Given the description of an element on the screen output the (x, y) to click on. 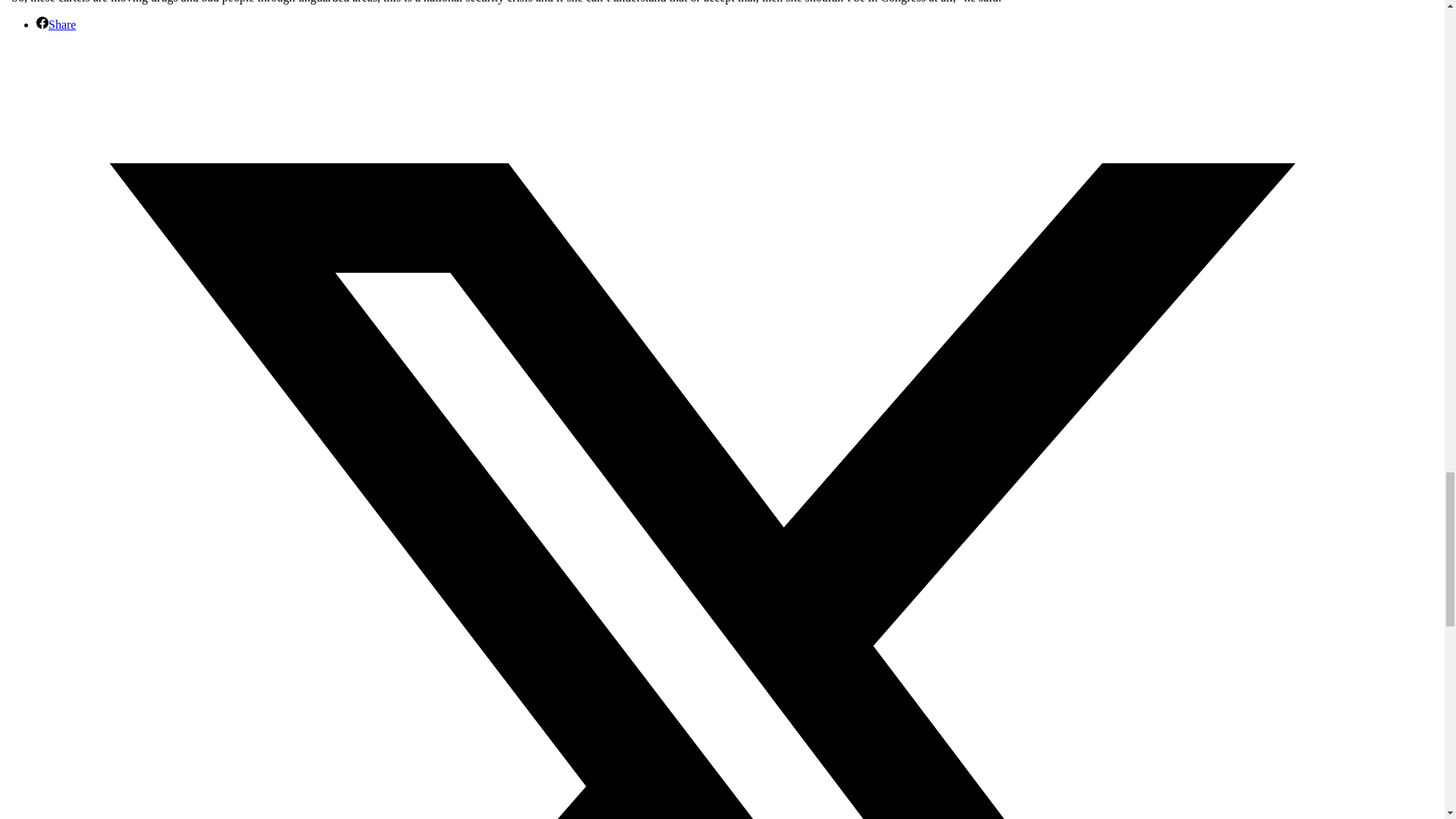
Share (55, 24)
Share on Share (55, 24)
